Given the description of an element on the screen output the (x, y) to click on. 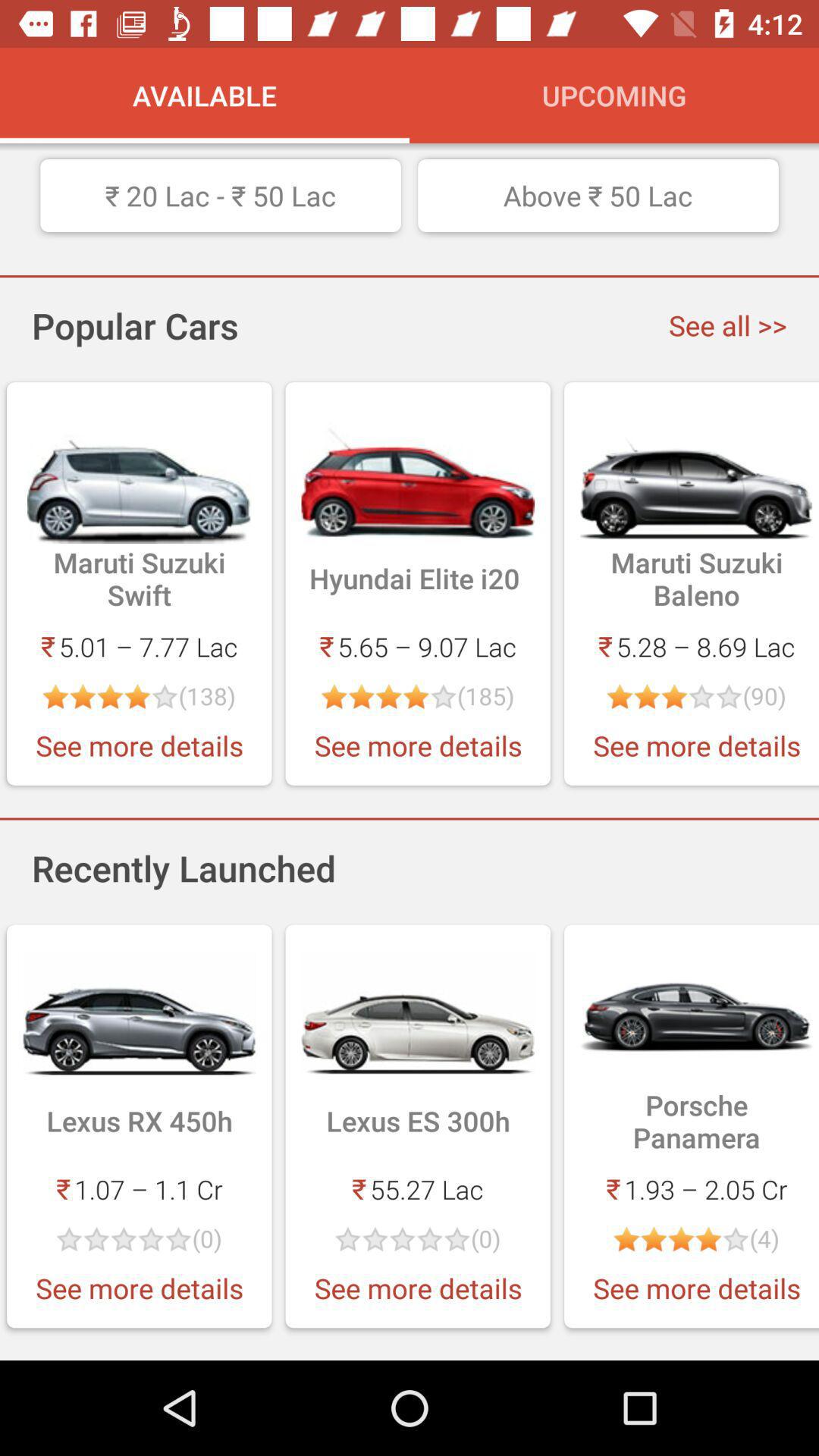
turn off the icon to the left of upcoming (204, 95)
